Given the description of an element on the screen output the (x, y) to click on. 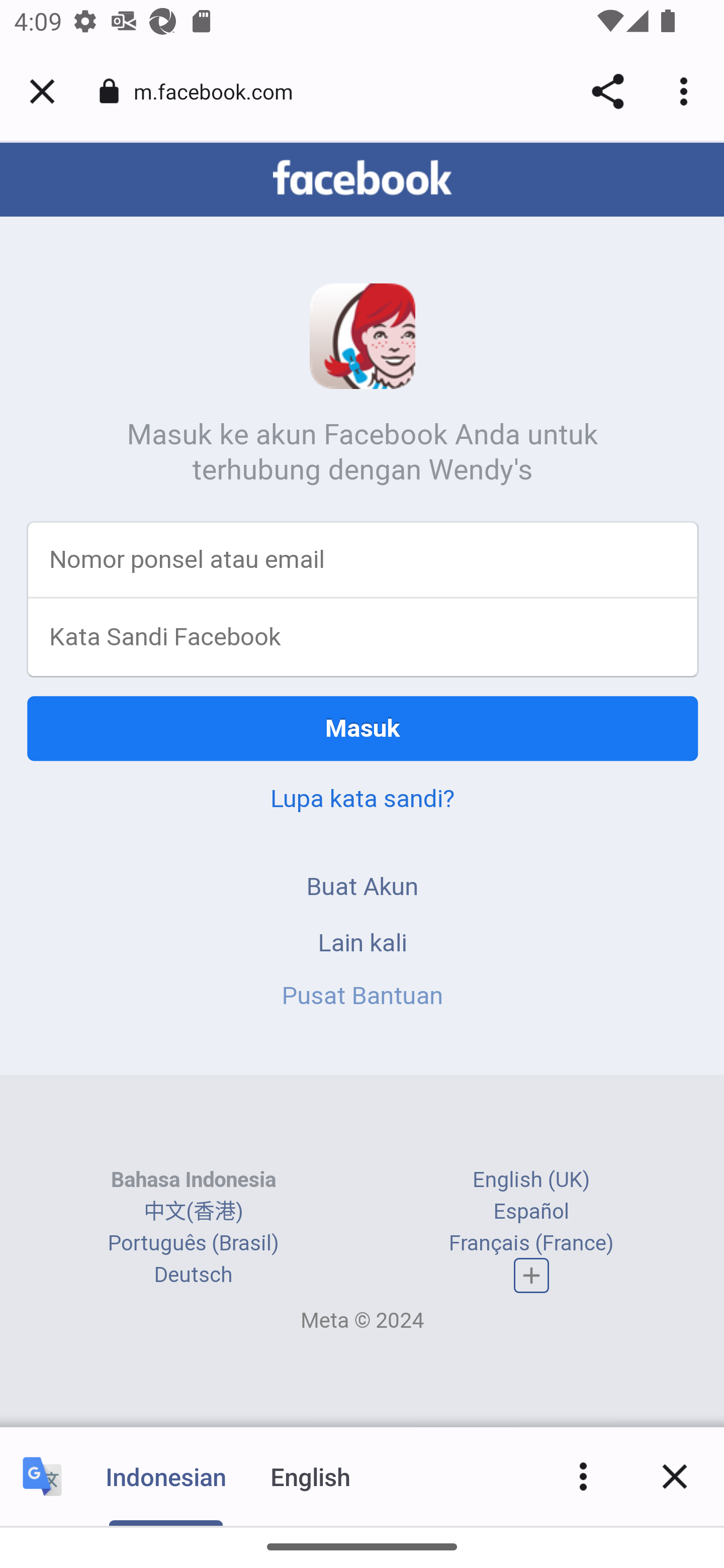
Close tab (42, 91)
Share (607, 91)
More options (687, 91)
Connection is secure (108, 91)
m.facebook.com (219, 90)
facebook (361, 179)
Masuk (363, 729)
Lupa kata sandi? (362, 800)
Buat Akun (363, 887)
Lain kali (362, 943)
Pusat Bantuan (363, 996)
English (UK) (531, 1181)
中文(香港) (193, 1212)
Español (531, 1212)
Português (Brasil) (193, 1243)
Français (France) (530, 1243)
Daftar bahasa lengkap (531, 1277)
Deutsch (192, 1275)
English (310, 1475)
More options (582, 1475)
Close (674, 1475)
